Given the description of an element on the screen output the (x, y) to click on. 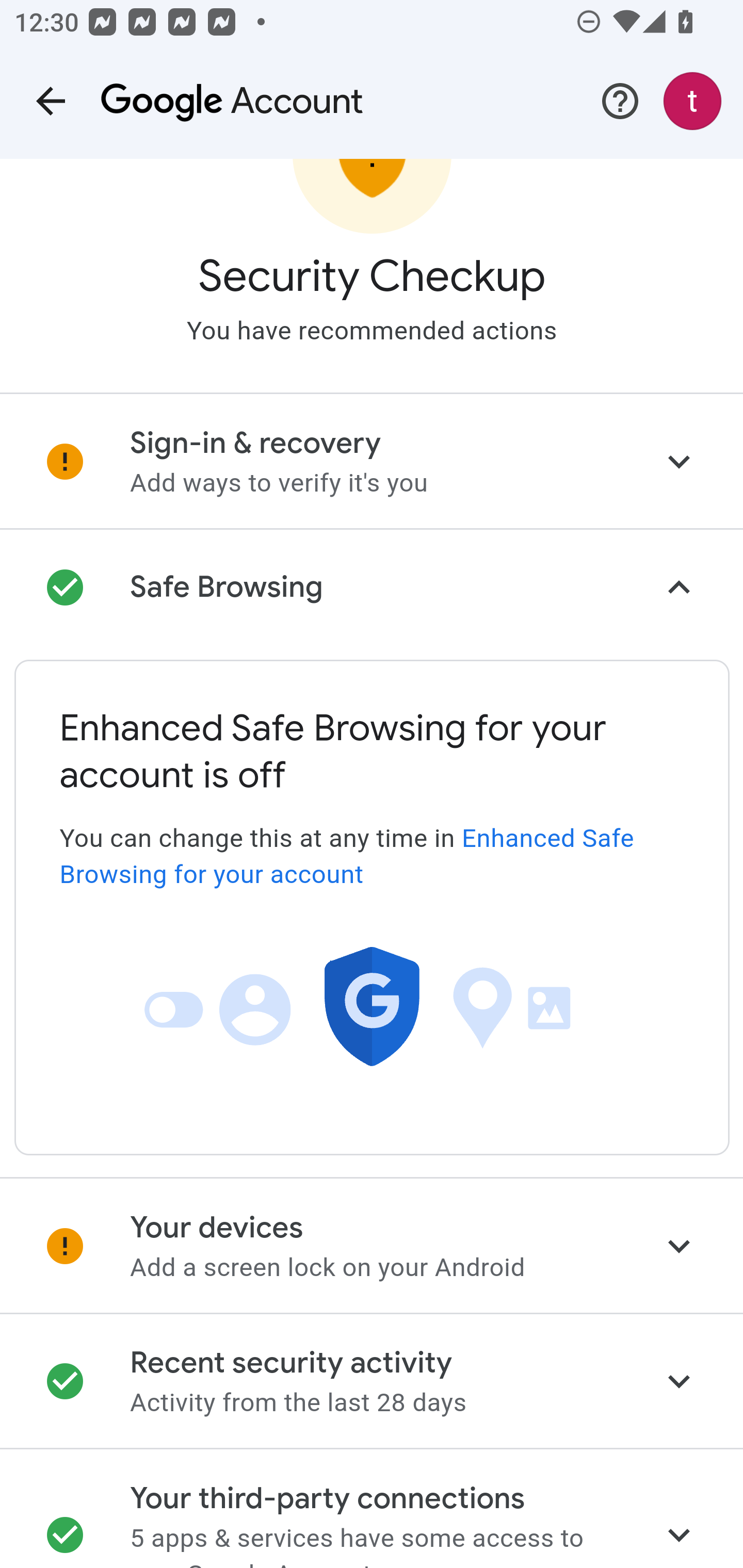
Navigate up (50, 101)
Help & feedback (619, 101)
Safe Browsing (371, 588)
Enhanced Safe Browsing for your account (346, 857)
